Given the description of an element on the screen output the (x, y) to click on. 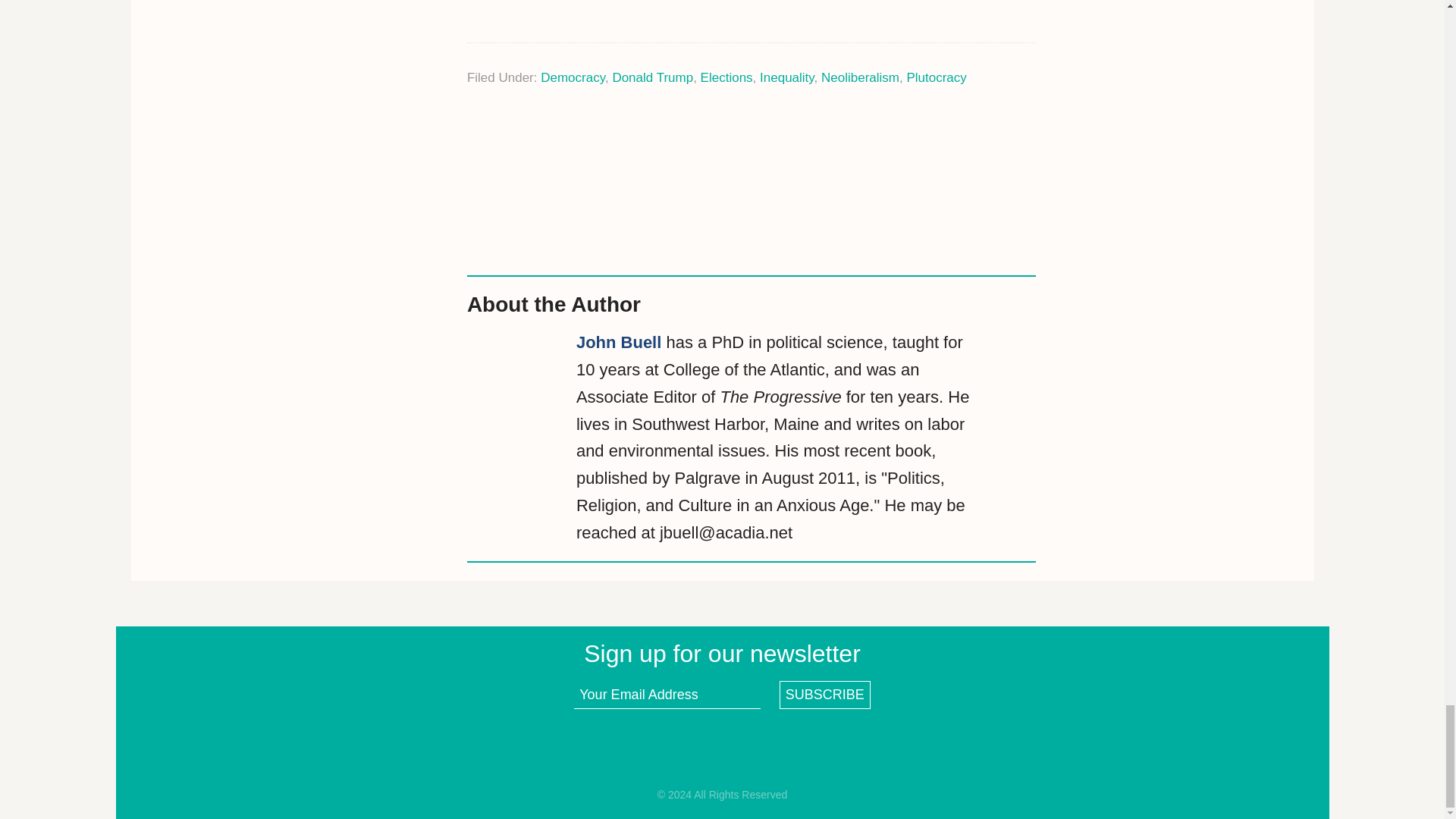
subscribe (824, 694)
John Buell (618, 342)
Inequality (786, 77)
Plutocracy (935, 77)
Democracy (572, 77)
Neoliberalism (860, 77)
Donald Trump (652, 77)
Elections (726, 77)
